Given the description of an element on the screen output the (x, y) to click on. 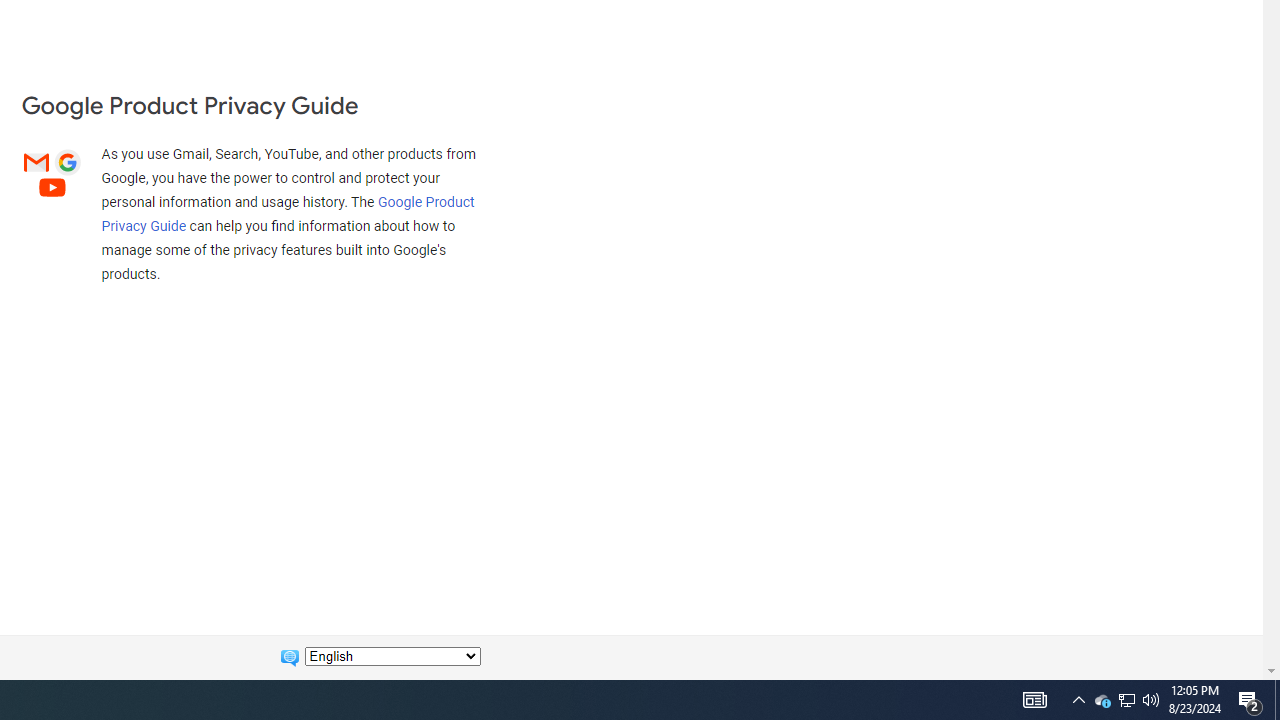
Google Product Privacy Guide (287, 213)
Change language: (392, 656)
